Given the description of an element on the screen output the (x, y) to click on. 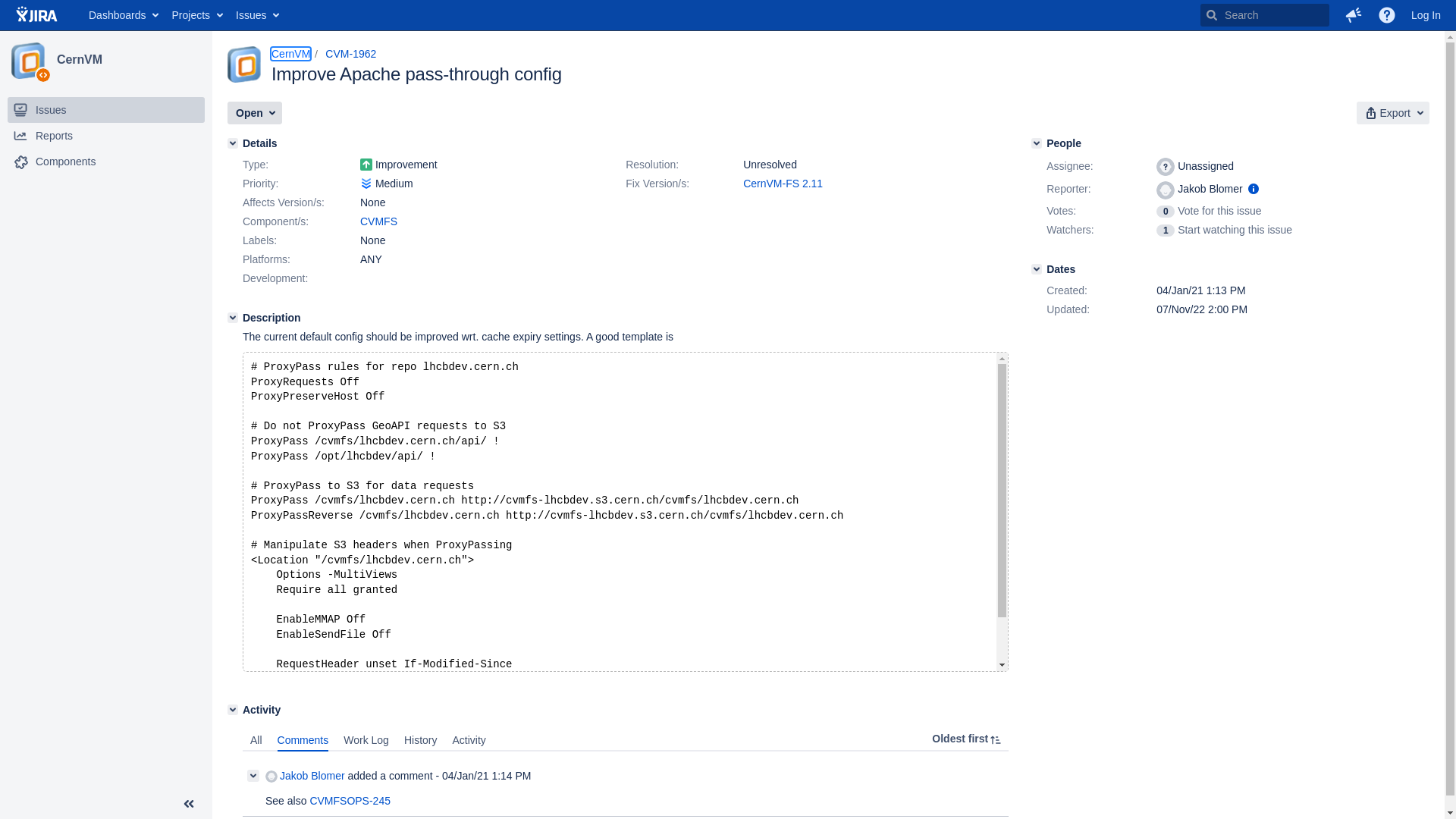
Open Element type: text (254, 112)
Issues Element type: text (256, 15)
Activity Element type: text (468, 739)
Give feedback to Atlassian Element type: text (1353, 15)
History Element type: text (420, 739)
Help Element type: text (1386, 15)
CernVM-FS 2.11 Element type: text (782, 183)
Search ( Type '/' ) Element type: hover (1264, 14)
04/Jan/21 1:14 PM Element type: text (486, 775)
CVM-1962 Element type: text (350, 53)
CVMFSOPS-245 Element type: text (349, 800)
Jakob Blomer Element type: text (305, 775)
Log In Element type: text (1425, 15)
Work Log Element type: text (365, 739)
Dashboards Element type: text (122, 15)
CVMFS Element type: text (378, 221)
Comments Element type: text (302, 739)
Projects Element type: text (195, 15)
CernVM Element type: text (290, 53)
All Element type: text (255, 739)
Export Element type: text (1392, 112)
Oldest first Element type: text (966, 739)
Collapse comment Element type: hover (253, 775)
